Given the description of an element on the screen output the (x, y) to click on. 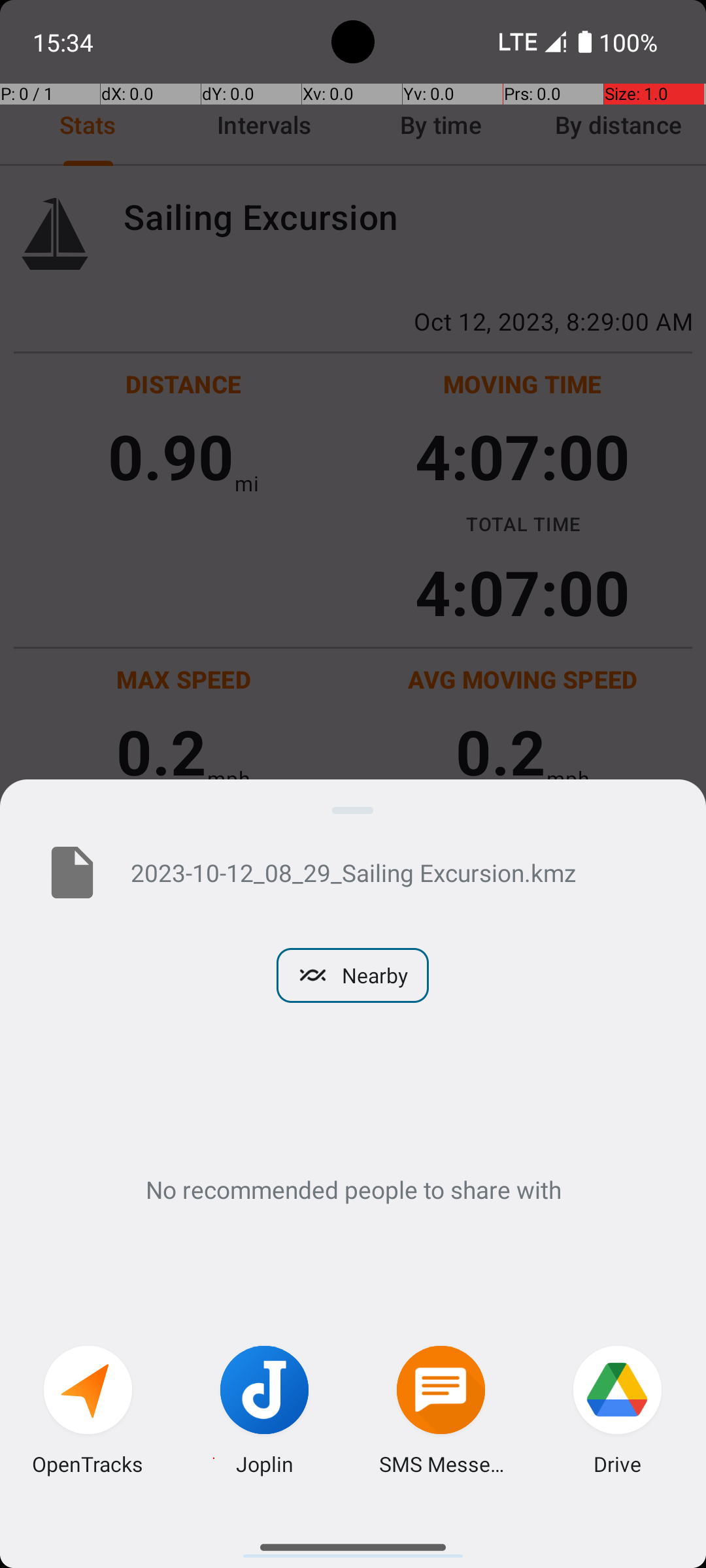
2023-10-12_08_29_Sailing Excursion.kmz Element type: android.widget.TextView (397, 872)
